Given the description of an element on the screen output the (x, y) to click on. 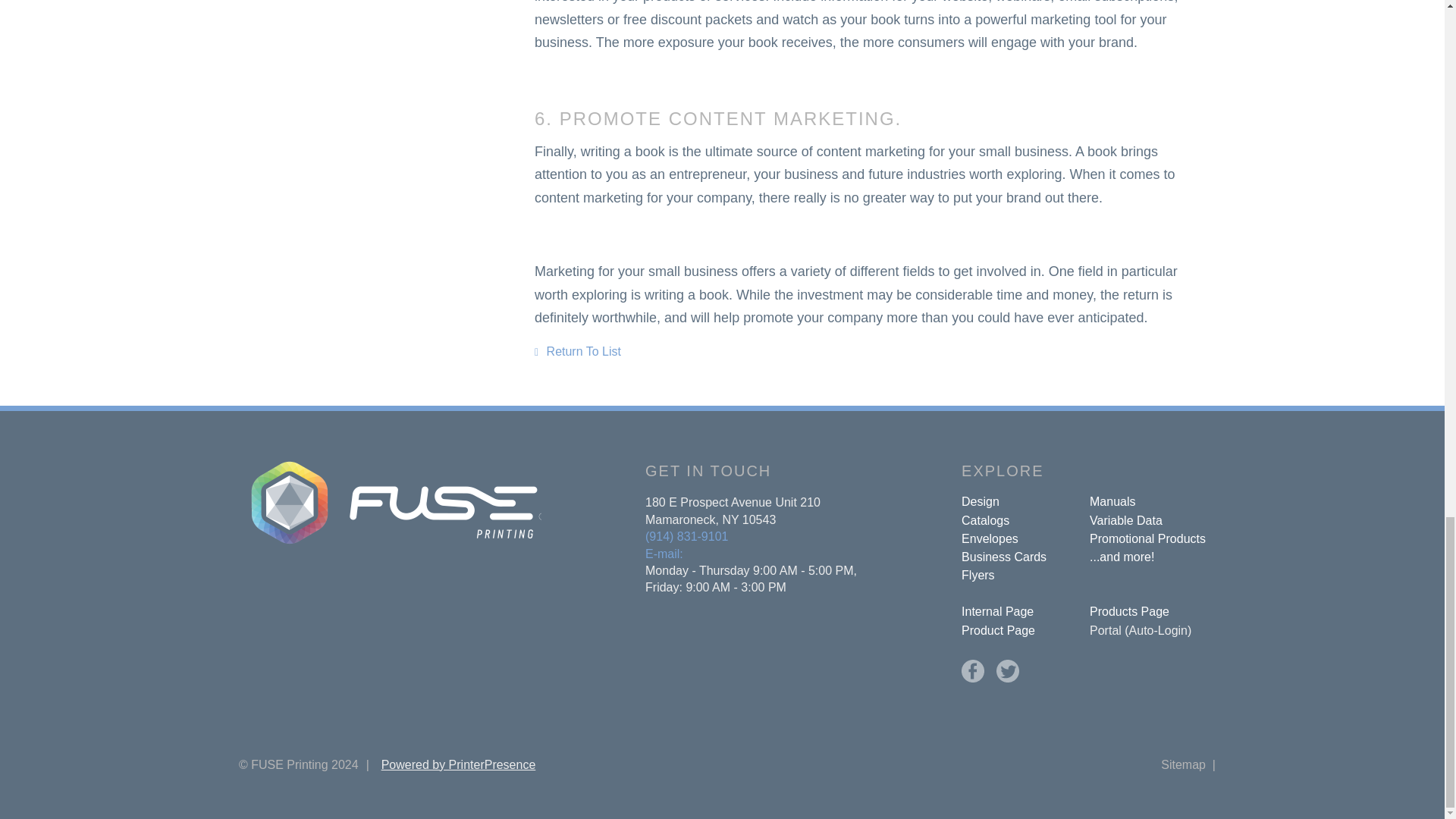
Return To List (577, 350)
logo (389, 501)
